Given the description of an element on the screen output the (x, y) to click on. 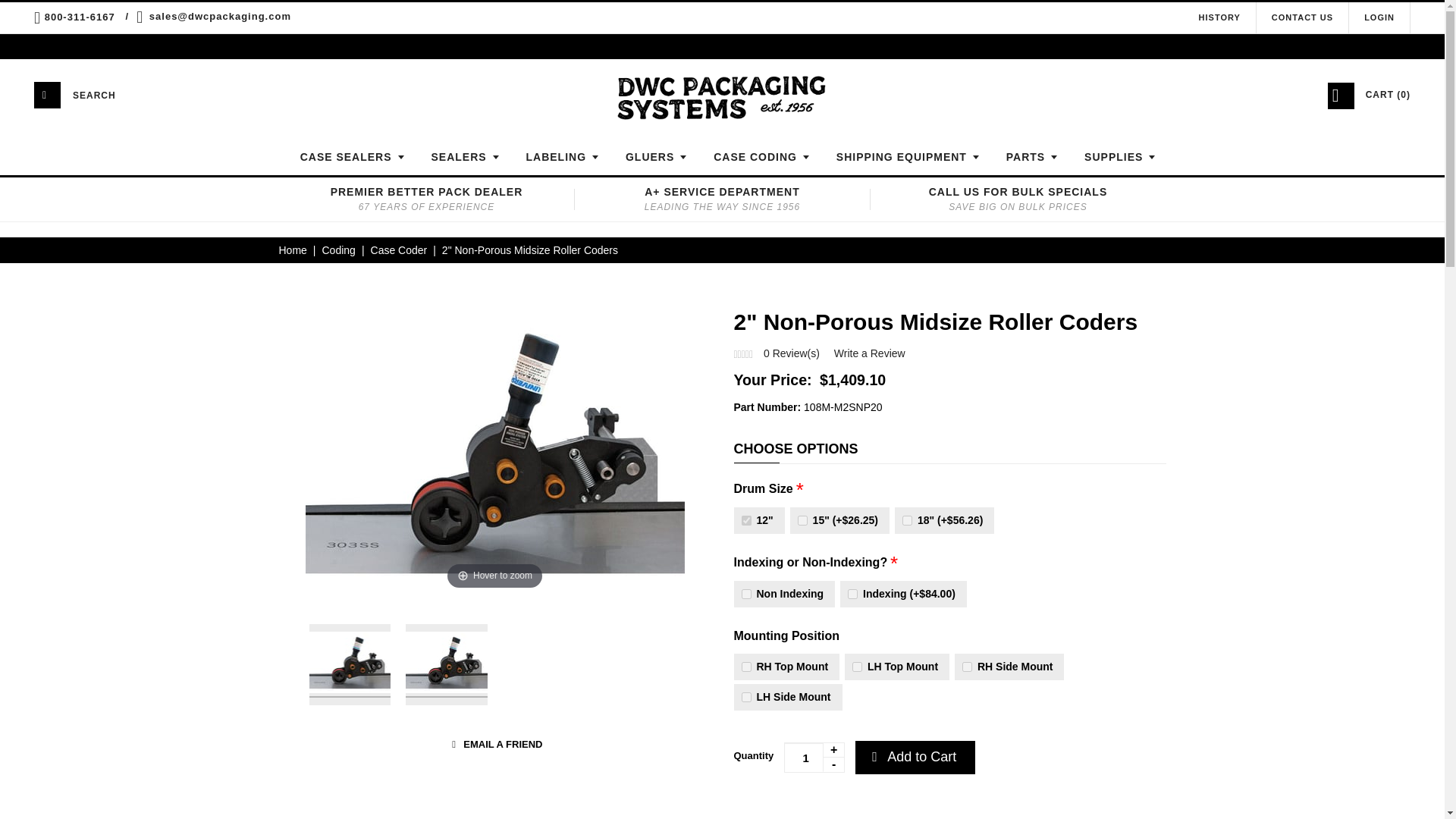
800-311-6167 (80, 17)
CONTACT US (1302, 17)
1 (814, 757)
SEALERS (459, 156)
LABELING (556, 156)
LOGIN (1379, 17)
HISTORY (1219, 17)
CASE SEALERS (346, 156)
PayPal (828, 809)
